Given the description of an element on the screen output the (x, y) to click on. 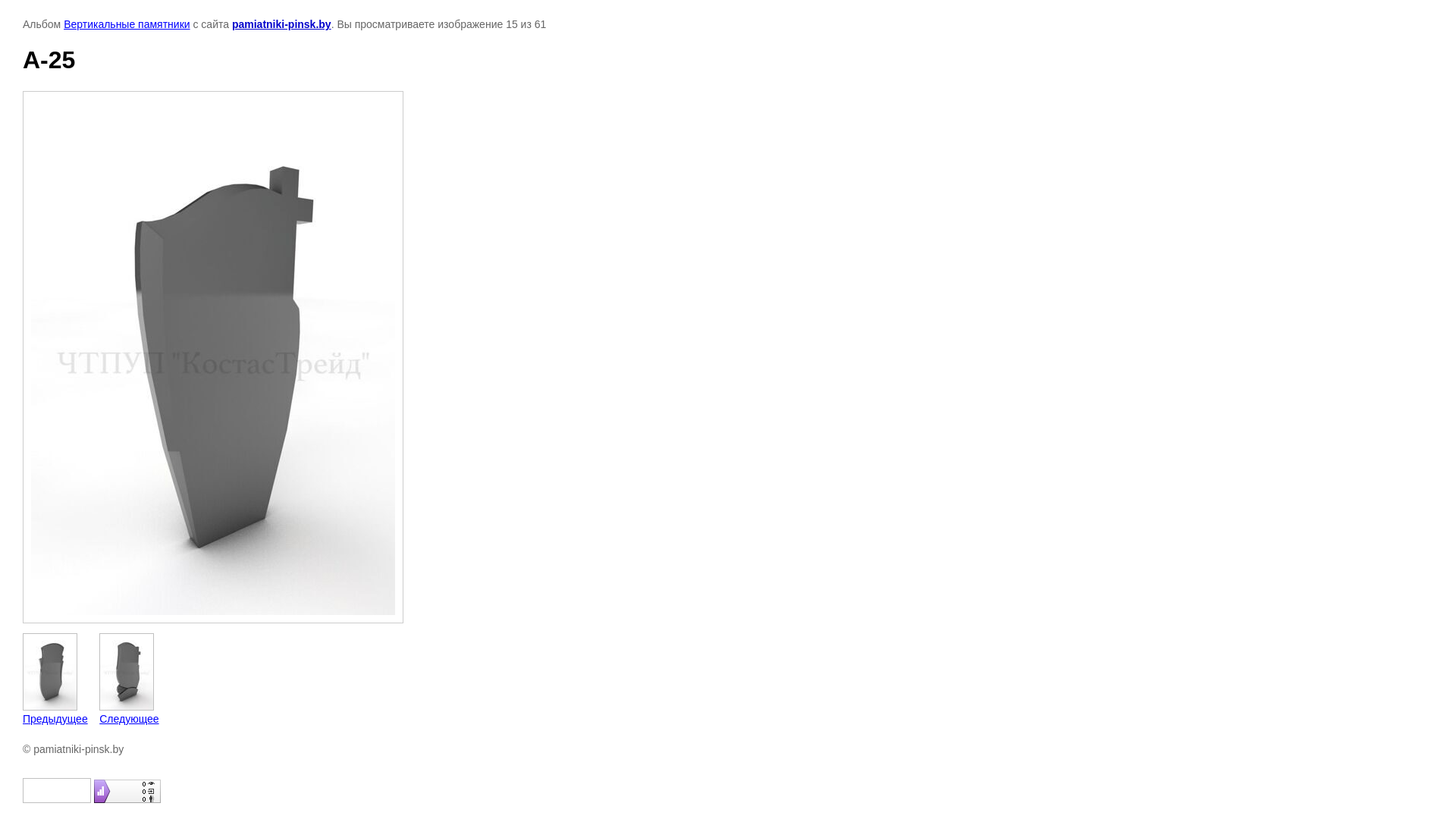
pamiatniki-pinsk.by Element type: text (281, 24)
